Given the description of an element on the screen output the (x, y) to click on. 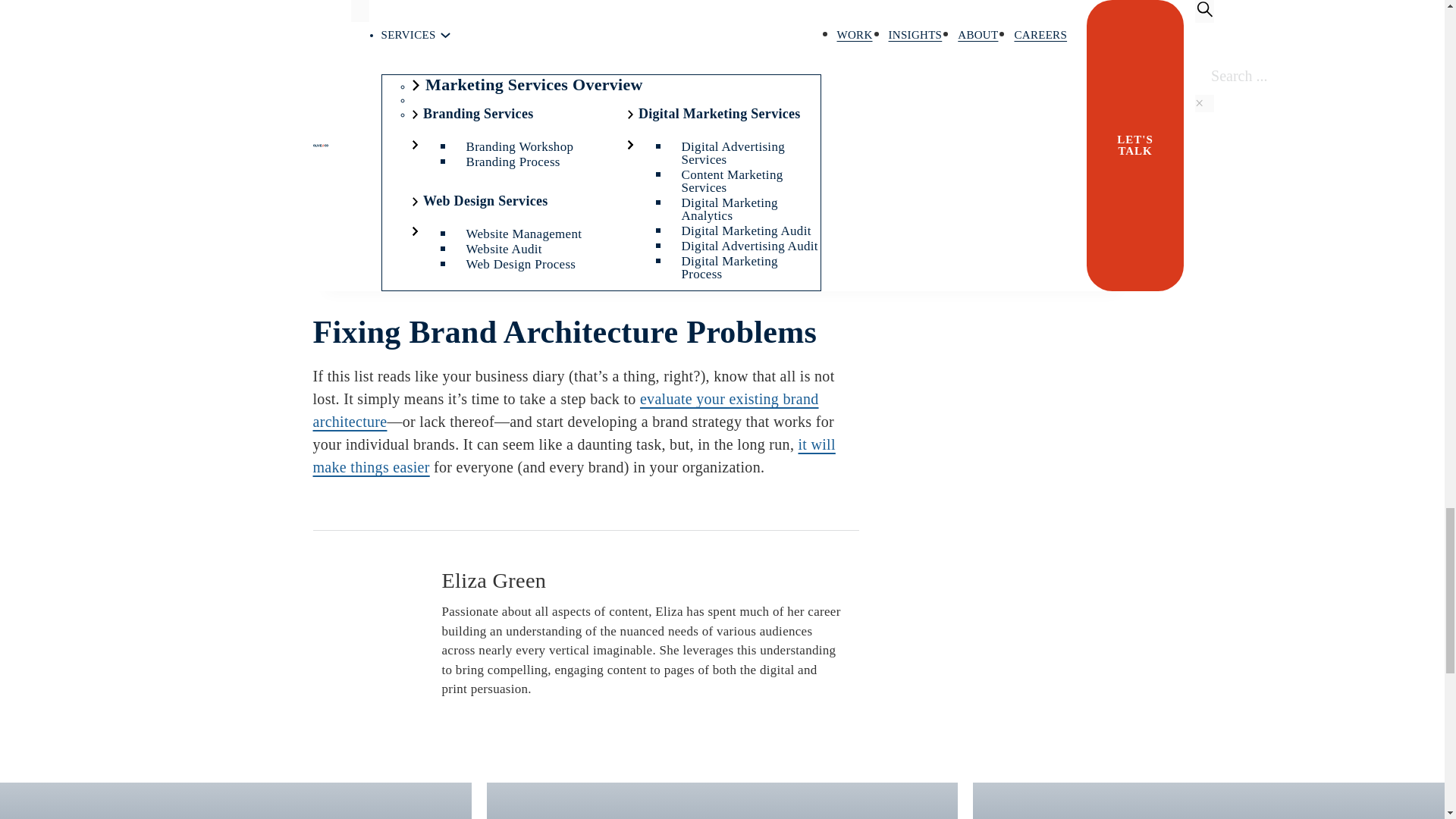
evaluate your existing brand architecture (565, 409)
it will make things easier (573, 455)
